Given the description of an element on the screen output the (x, y) to click on. 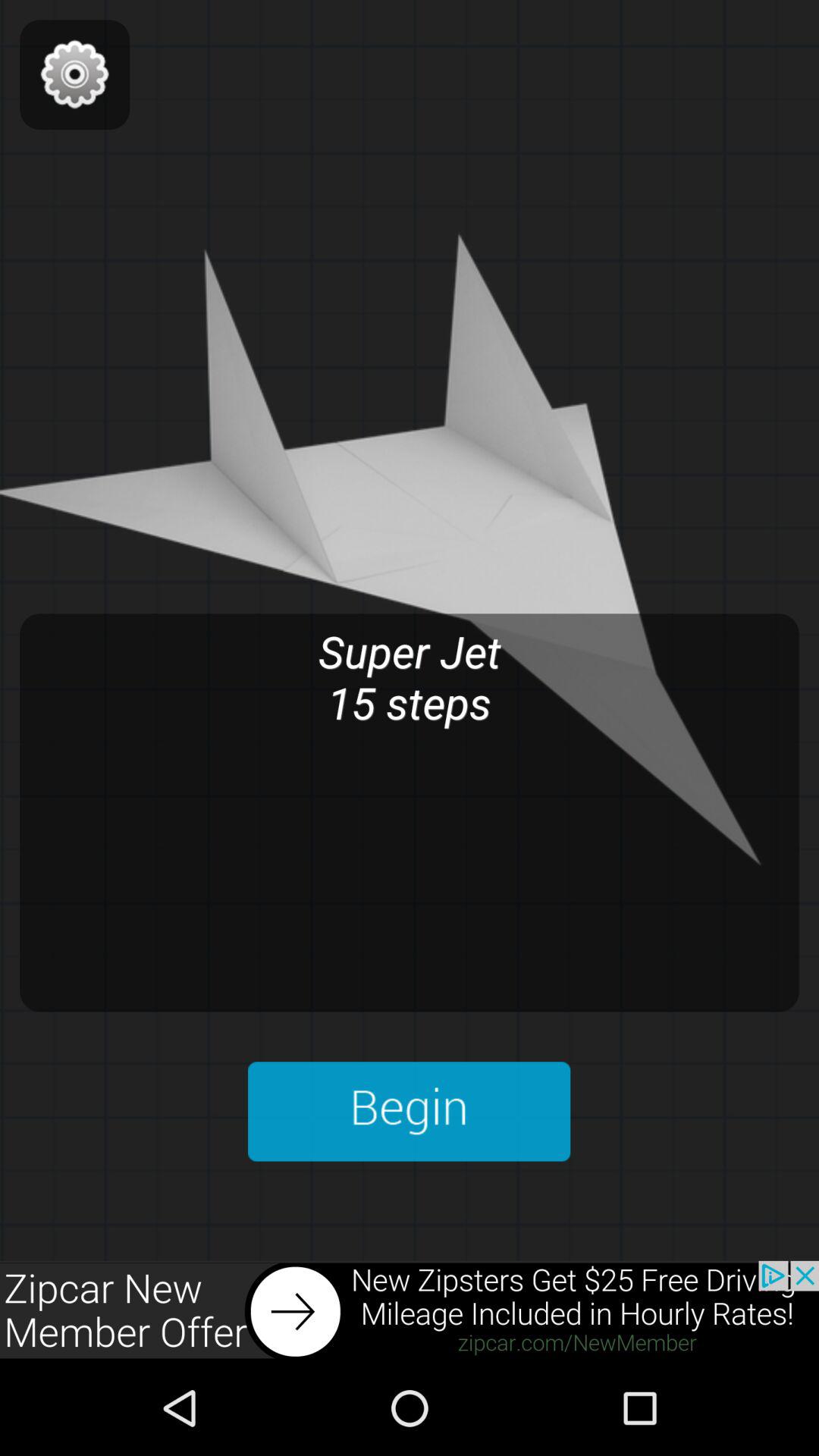
begin option (408, 1111)
